Given the description of an element on the screen output the (x, y) to click on. 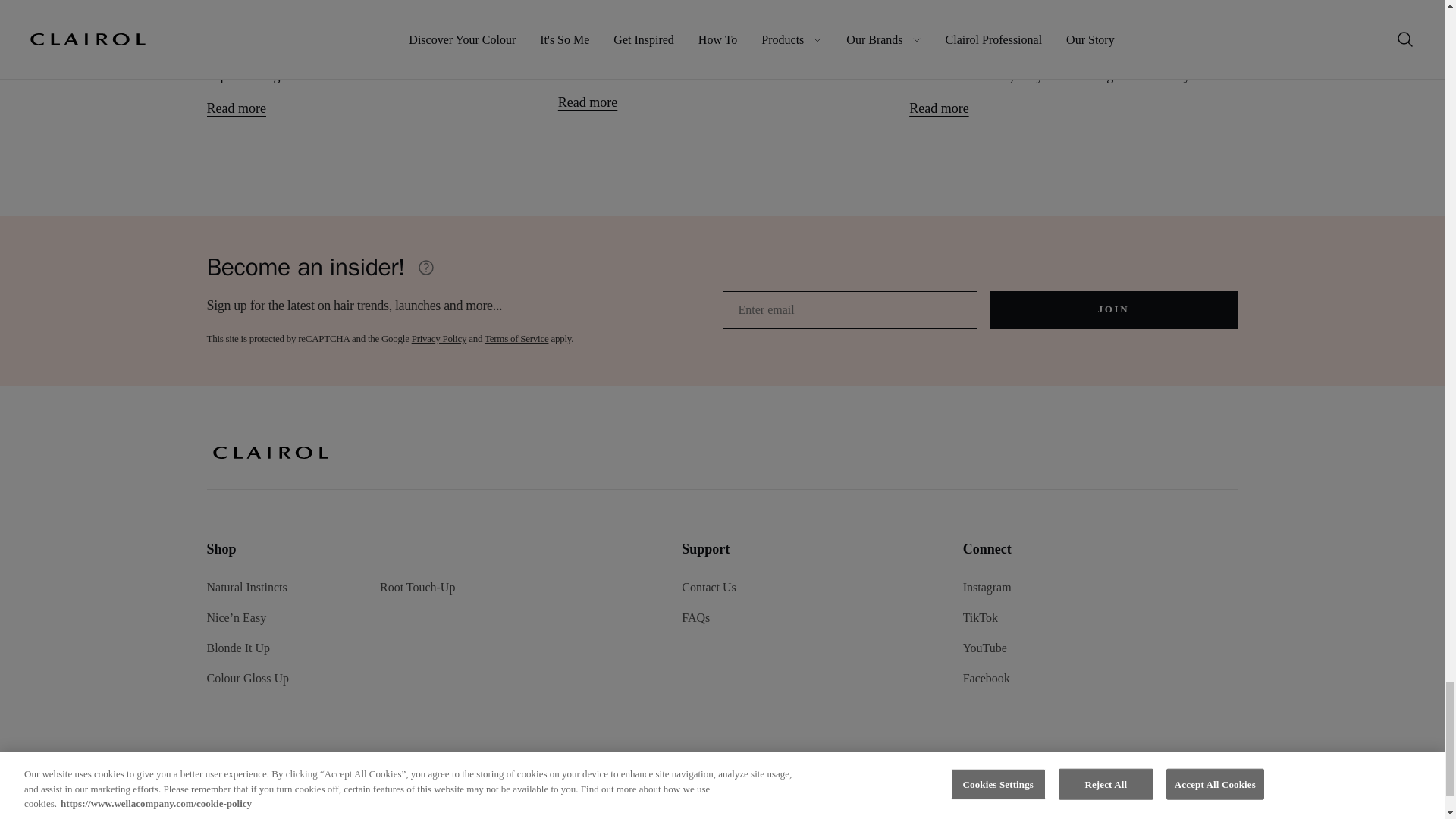
JOIN (1112, 310)
Terms of Service (516, 337)
Privacy Policy (439, 337)
Natural Instincts (246, 585)
Blonde It Up (237, 646)
Colour Gloss Up (247, 676)
